Given the description of an element on the screen output the (x, y) to click on. 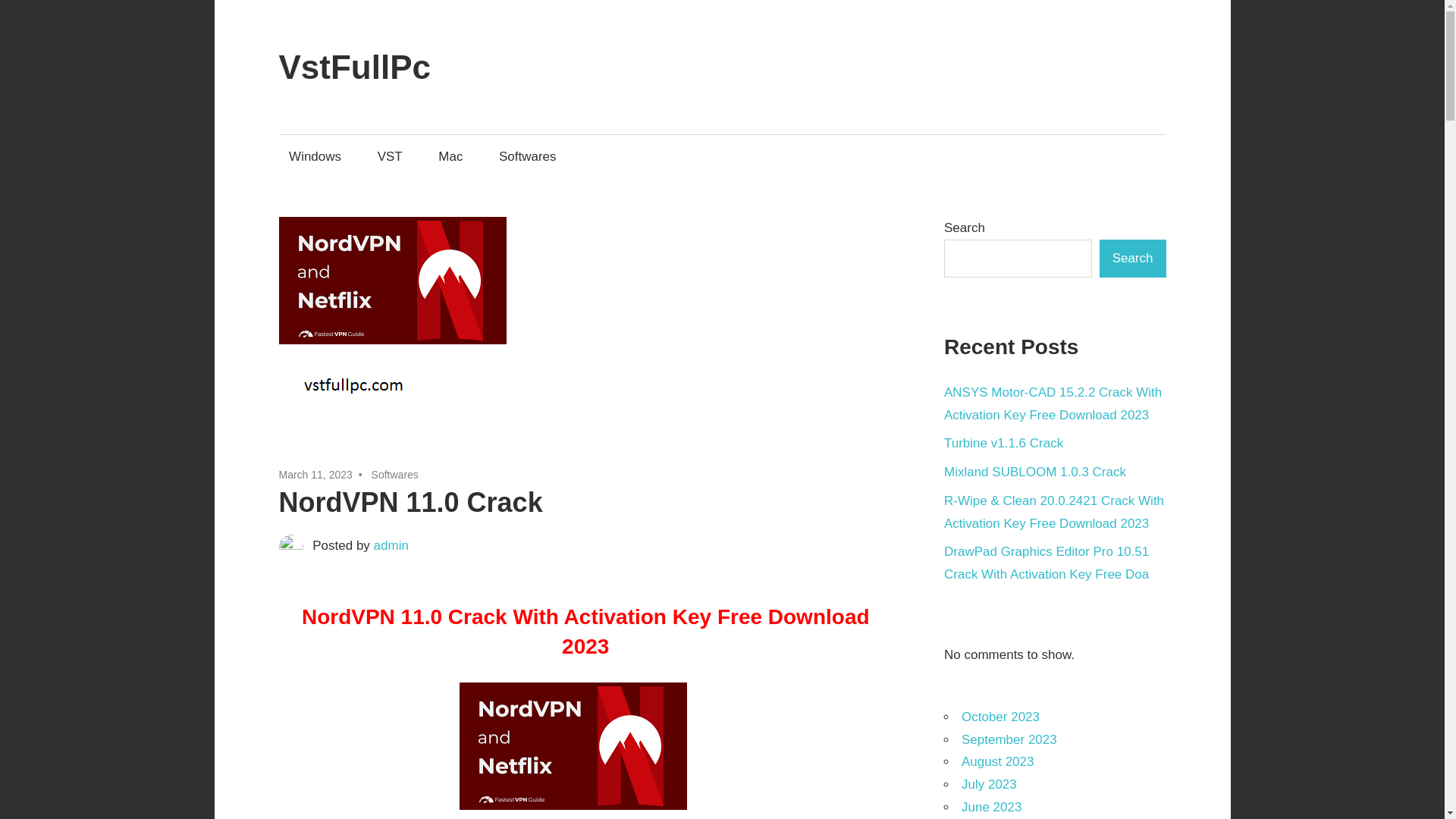
Softwares (395, 474)
VST (389, 156)
Turbine v1.1.6 Crack (1002, 442)
VstFullPc (354, 66)
Search (1132, 258)
1:03 pm (315, 474)
Mac (450, 156)
View all posts by admin (391, 545)
Windows (315, 156)
October 2023 (999, 716)
March 11, 2023 (315, 474)
admin (391, 545)
Softwares (526, 156)
